Given the description of an element on the screen output the (x, y) to click on. 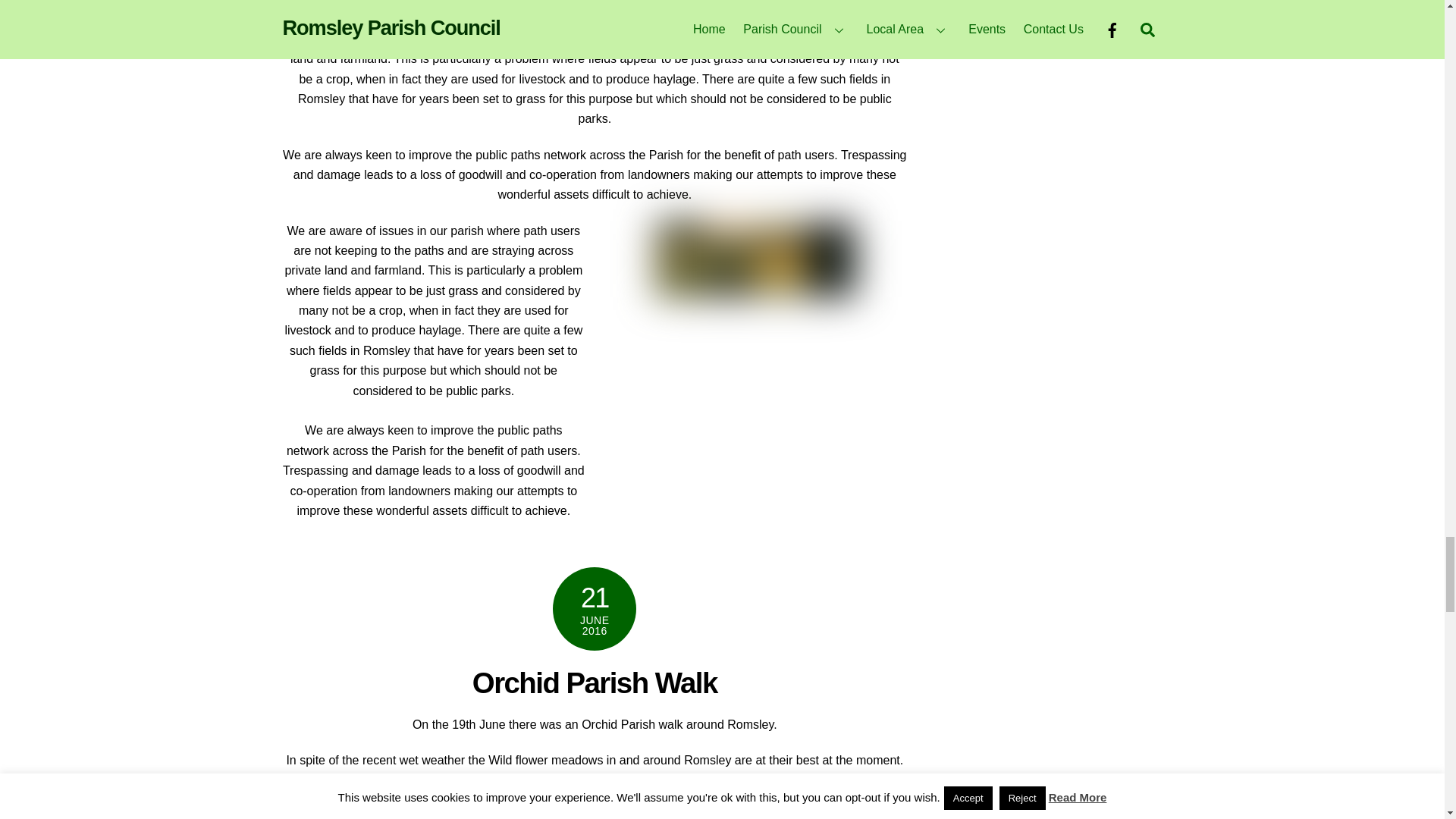
Romsley Post sign (755, 259)
